Given the description of an element on the screen output the (x, y) to click on. 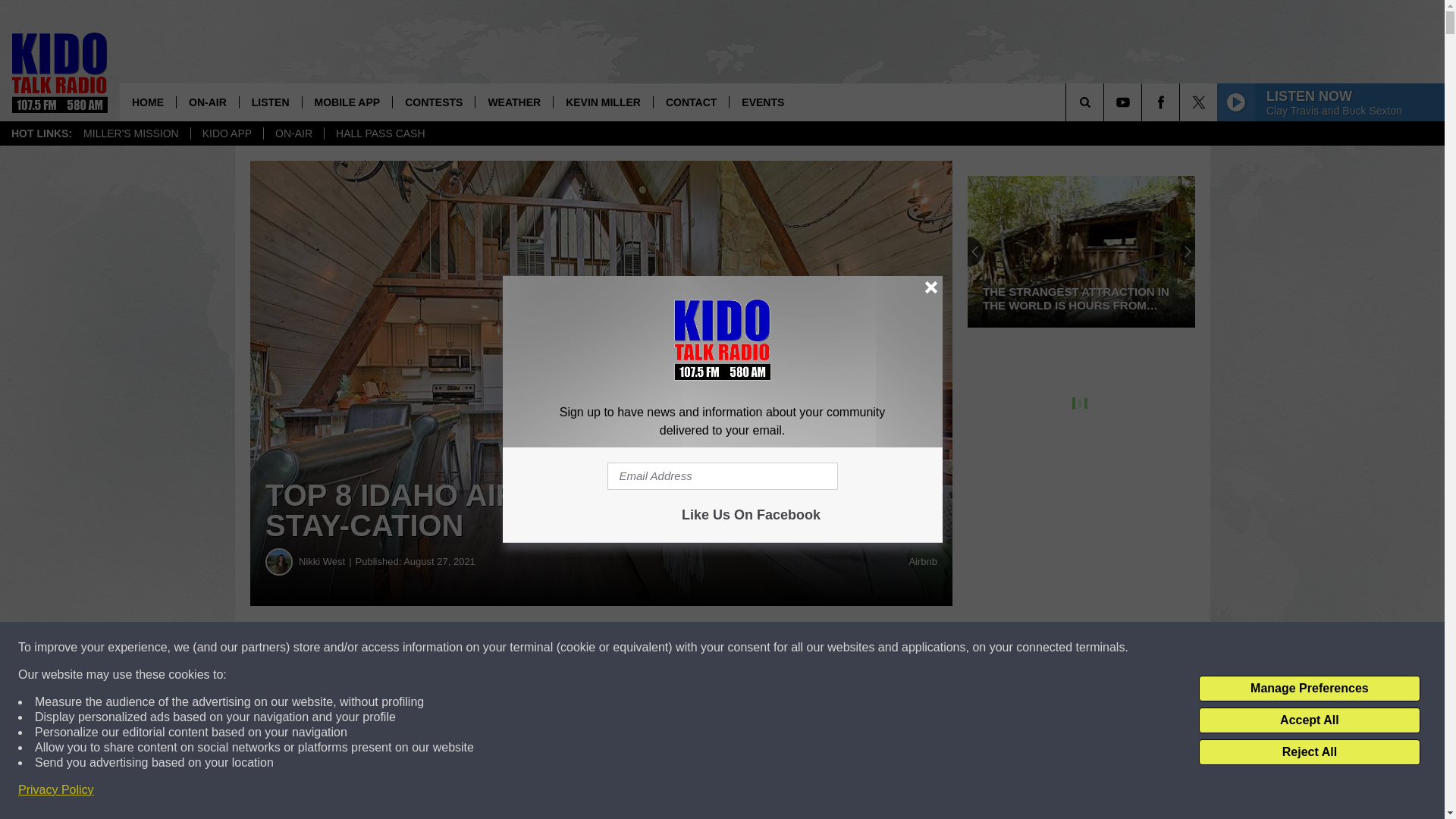
Email Address (722, 475)
MILLER'S MISSION (130, 133)
Share on Facebook (460, 647)
ON-AIR (207, 102)
HALL PASS CASH (379, 133)
Manage Preferences (1309, 688)
HOME (147, 102)
MOBILE APP (347, 102)
WEATHER (513, 102)
Privacy Policy (55, 789)
KIDO APP (226, 133)
Reject All (1309, 751)
Accept All (1309, 720)
LISTEN (269, 102)
SEARCH (1106, 102)
